Given the description of an element on the screen output the (x, y) to click on. 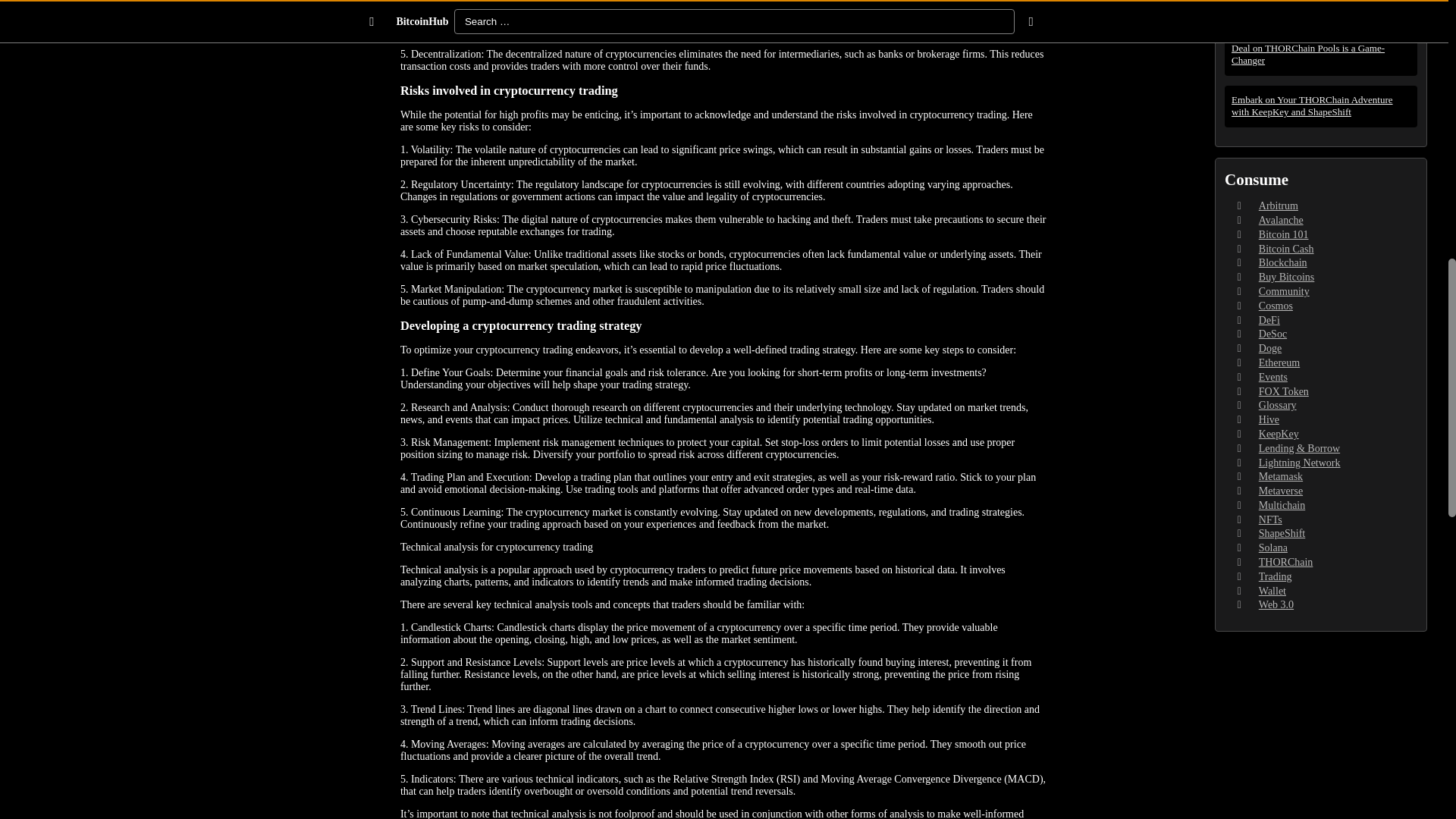
Buy Bitcoins (1286, 276)
Bitcoin 101 (1283, 234)
Cosmos (1275, 306)
Arbitrum (1278, 205)
Bitcoin Cash (1286, 248)
Avalanche (1281, 220)
DeFi (1269, 319)
DeSoc (1273, 333)
DOGE Coin: From Meme to Mainstream (1321, 2)
